Given the description of an element on the screen output the (x, y) to click on. 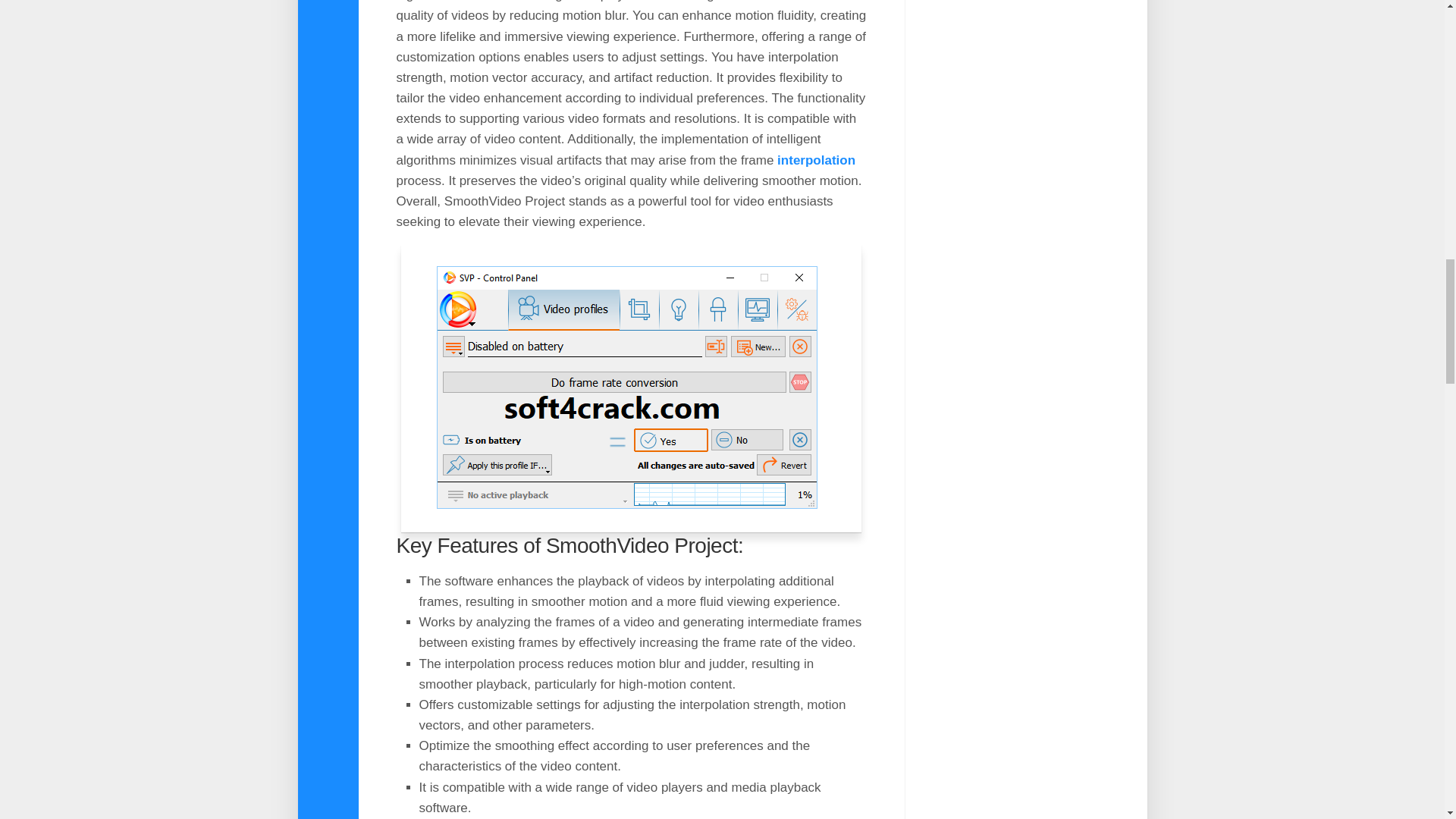
interpolation (816, 160)
